Given the description of an element on the screen output the (x, y) to click on. 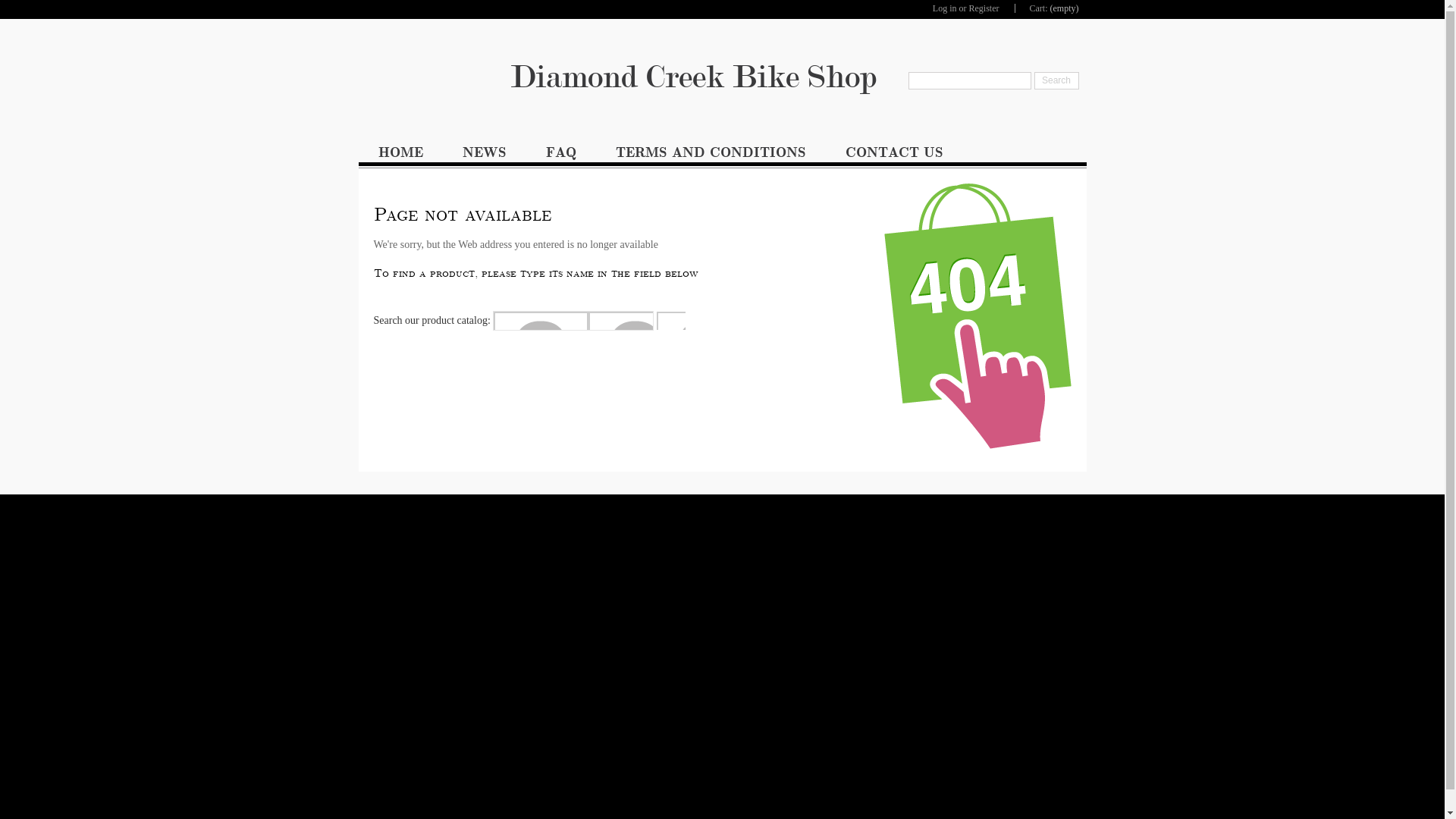
Diamond Creek Bike Shop        Element type: text (721, 76)
TERMS AND CONDITIONS Element type: text (710, 155)
Log in Element type: text (944, 7)
Cart: Element type: text (1038, 8)
Register Element type: text (984, 7)
CONTACT US Element type: text (893, 155)
OK Element type: text (670, 320)
HOME Element type: text (399, 155)
FAQ Element type: text (560, 155)
Search Element type: text (1056, 80)
NEWS Element type: text (484, 155)
